Given the description of an element on the screen output the (x, y) to click on. 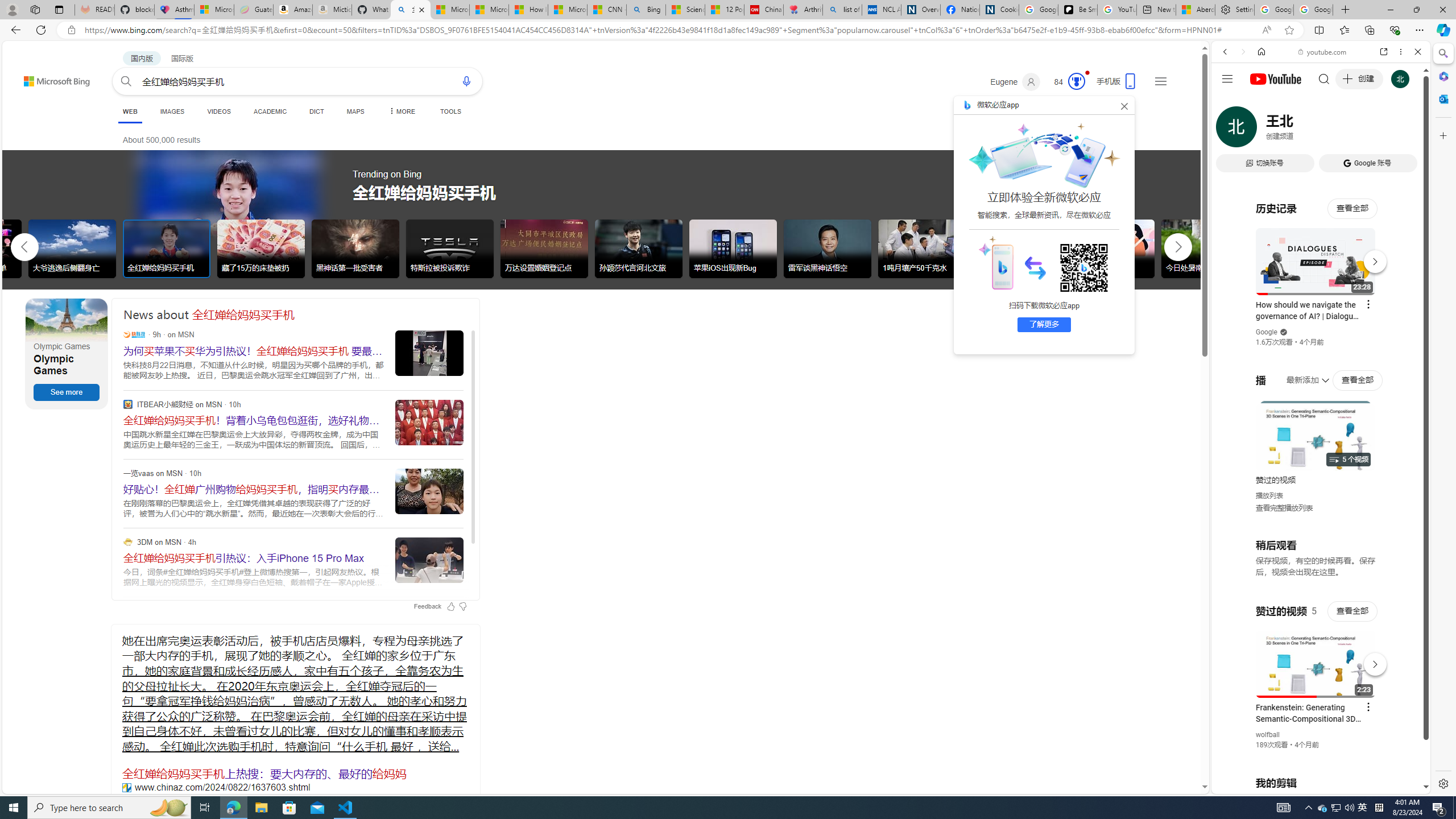
More options (1401, 51)
Settings and quick links (1160, 80)
YouTube (1315, 655)
Address and search bar (669, 29)
Class: dict_pnIcon rms_img (1312, 784)
